Given the description of an element on the screen output the (x, y) to click on. 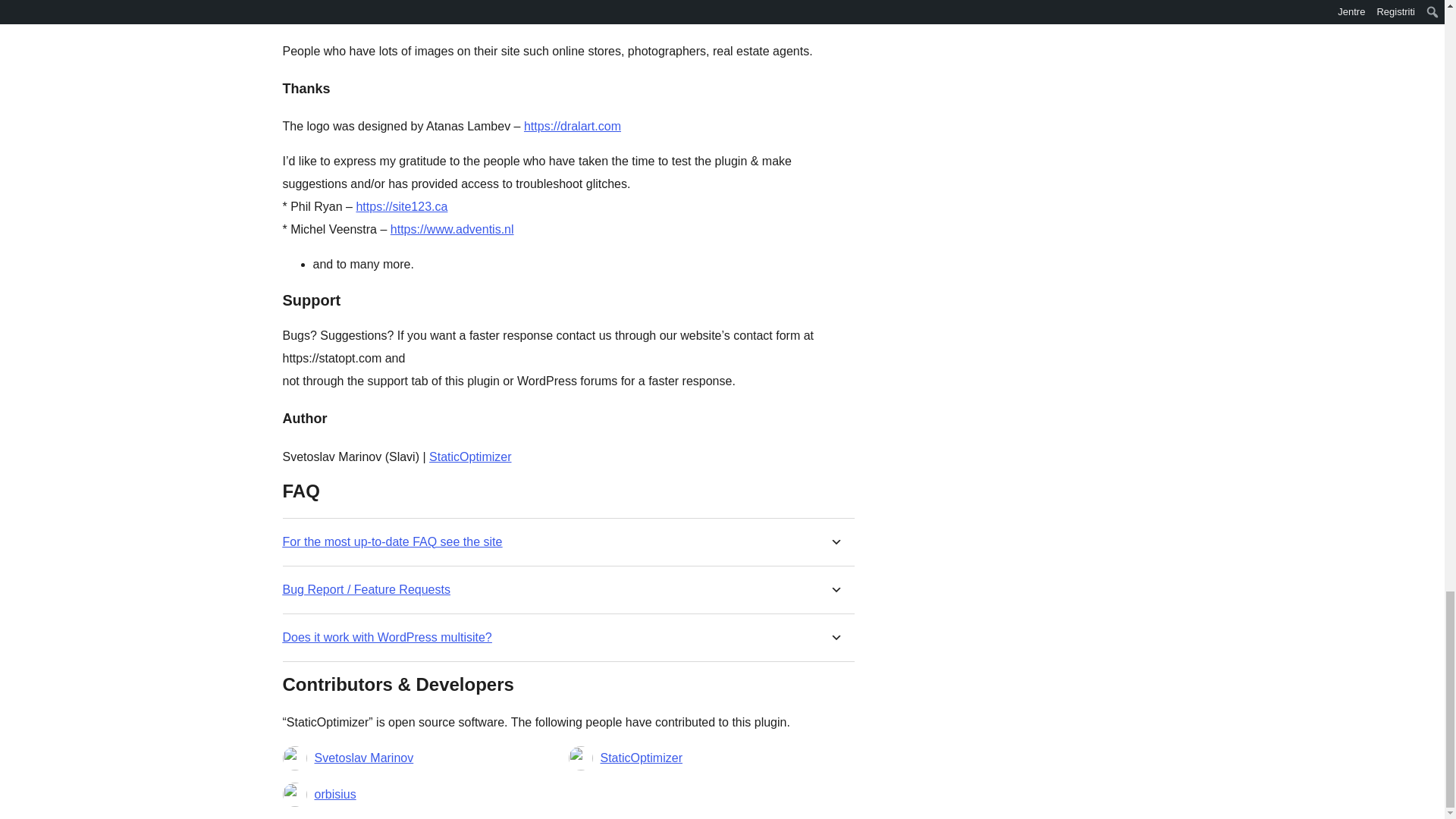
Web Design Bulgaria, Logo design bulgaria (572, 125)
StaticOptimizer (470, 456)
Image, js, css optimization and compression (470, 456)
For the most up-to-date FAQ see the site (392, 541)
